Given the description of an element on the screen output the (x, y) to click on. 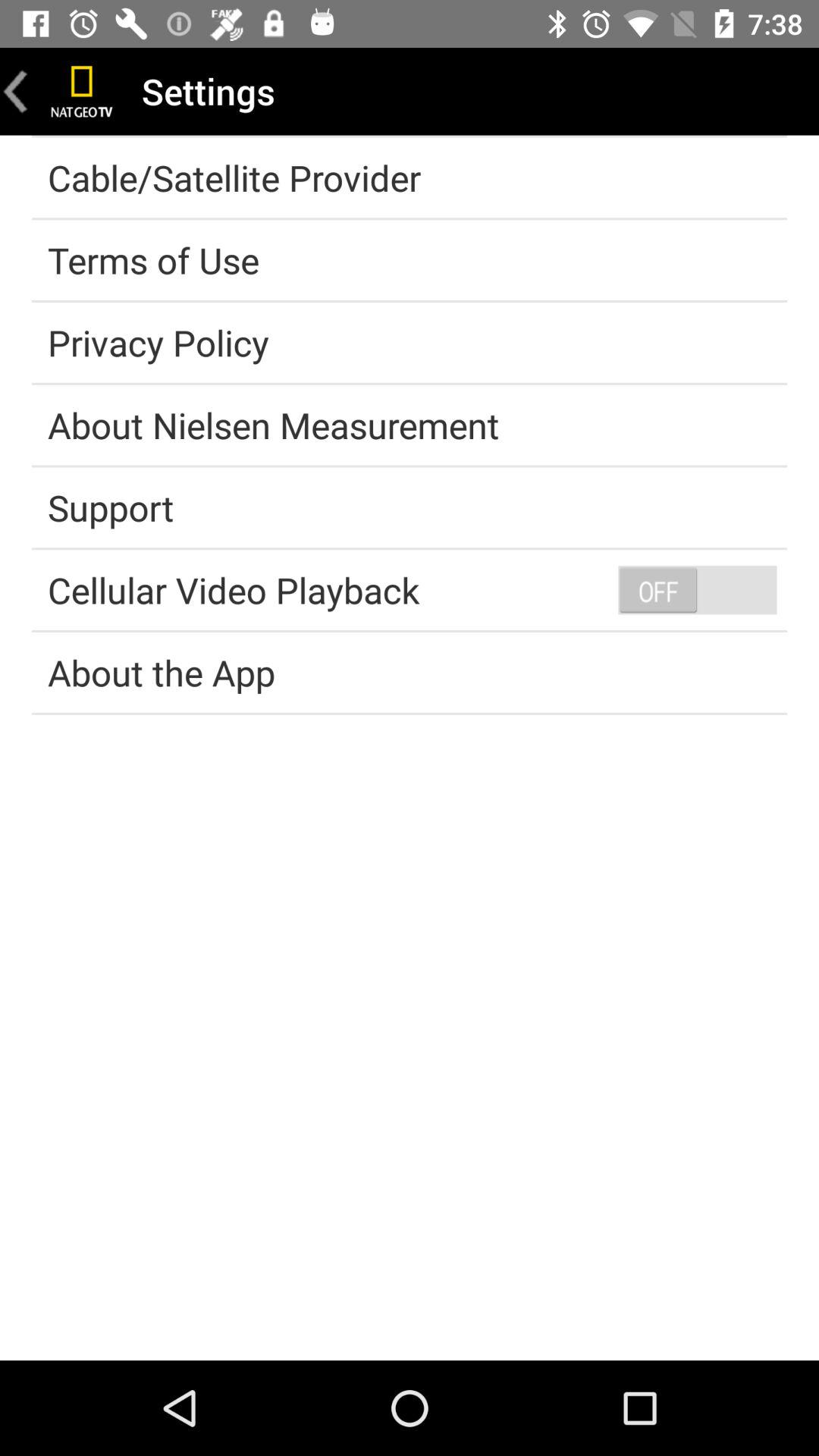
go back (15, 91)
